Given the description of an element on the screen output the (x, y) to click on. 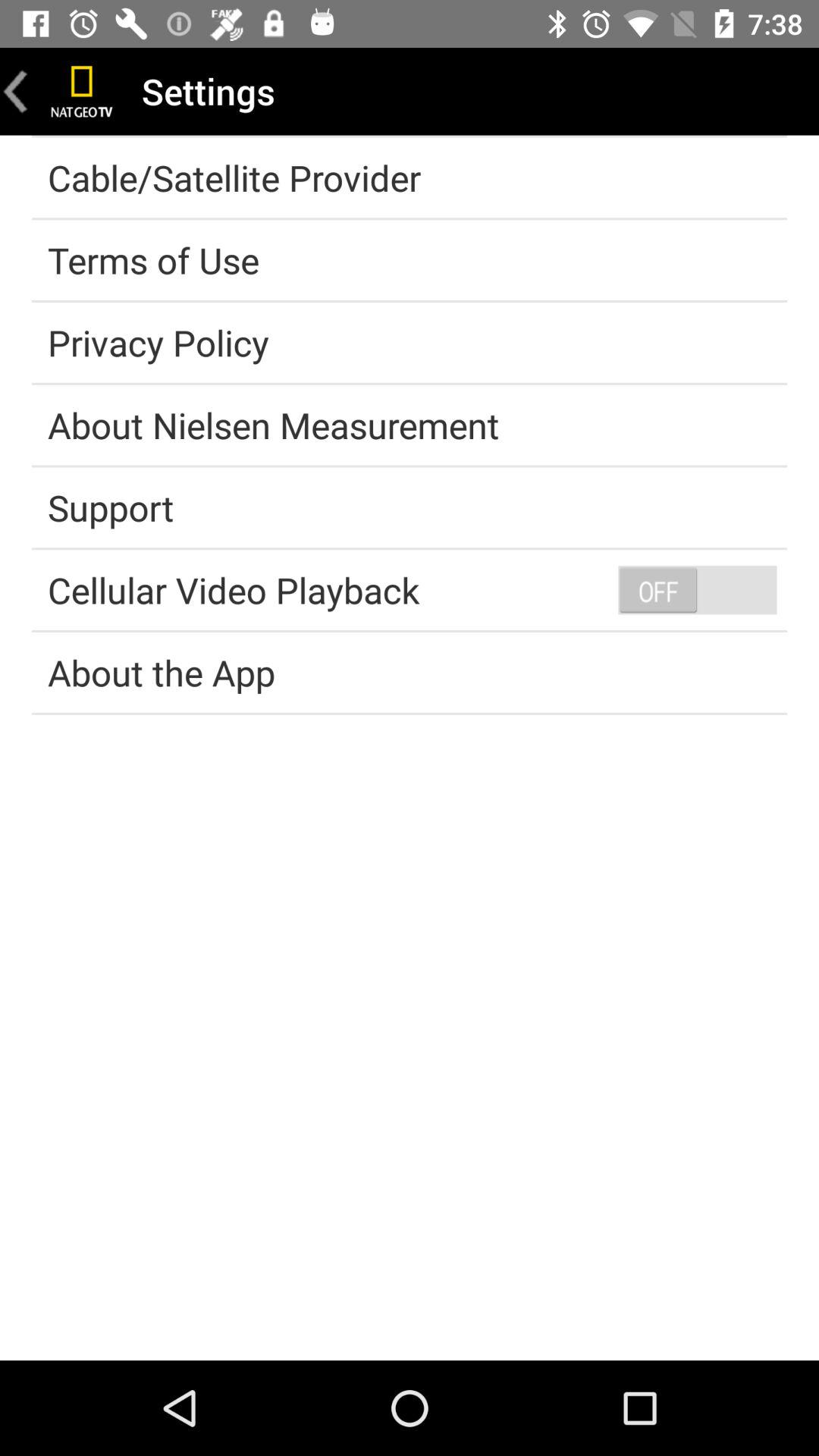
go back (15, 91)
